Given the description of an element on the screen output the (x, y) to click on. 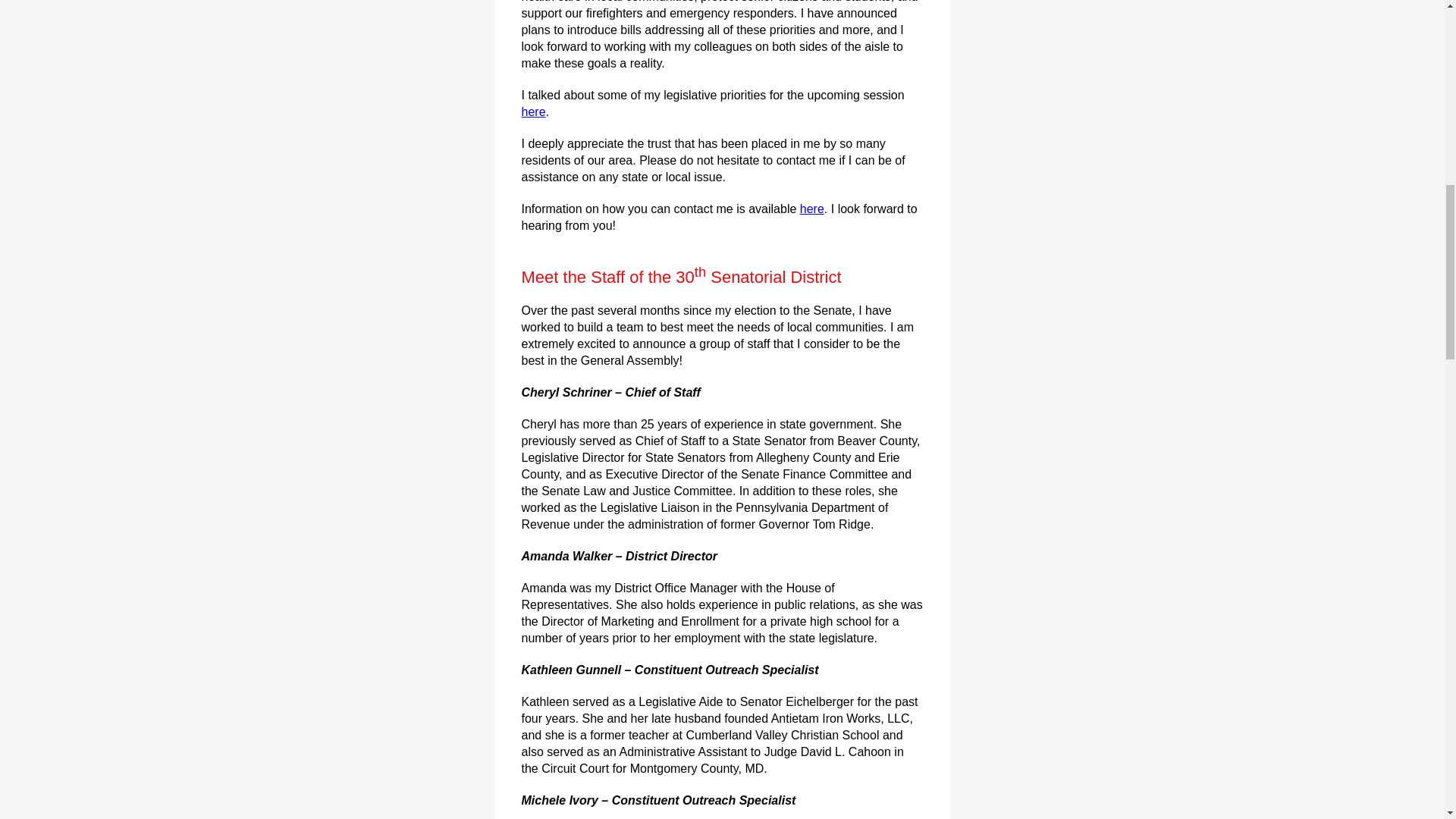
here (533, 111)
here (811, 208)
